Given the description of an element on the screen output the (x, y) to click on. 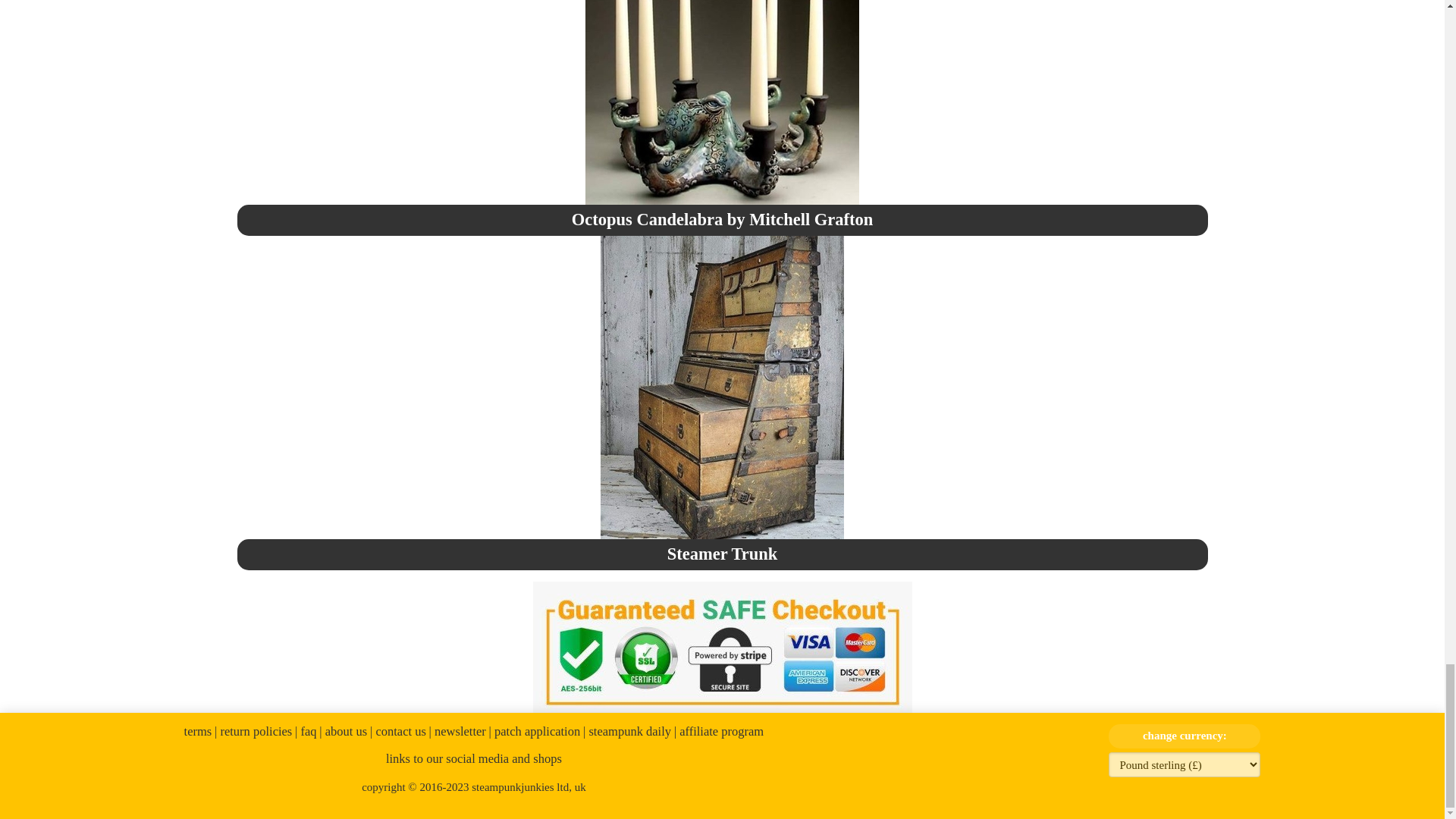
return policies (253, 730)
faq (306, 730)
affiliate program (718, 730)
patch application (534, 730)
contact us (397, 730)
about us (342, 730)
steampunk daily (627, 730)
links to our social media and shops (473, 758)
terms (198, 730)
newsletter (457, 730)
